Given the description of an element on the screen output the (x, y) to click on. 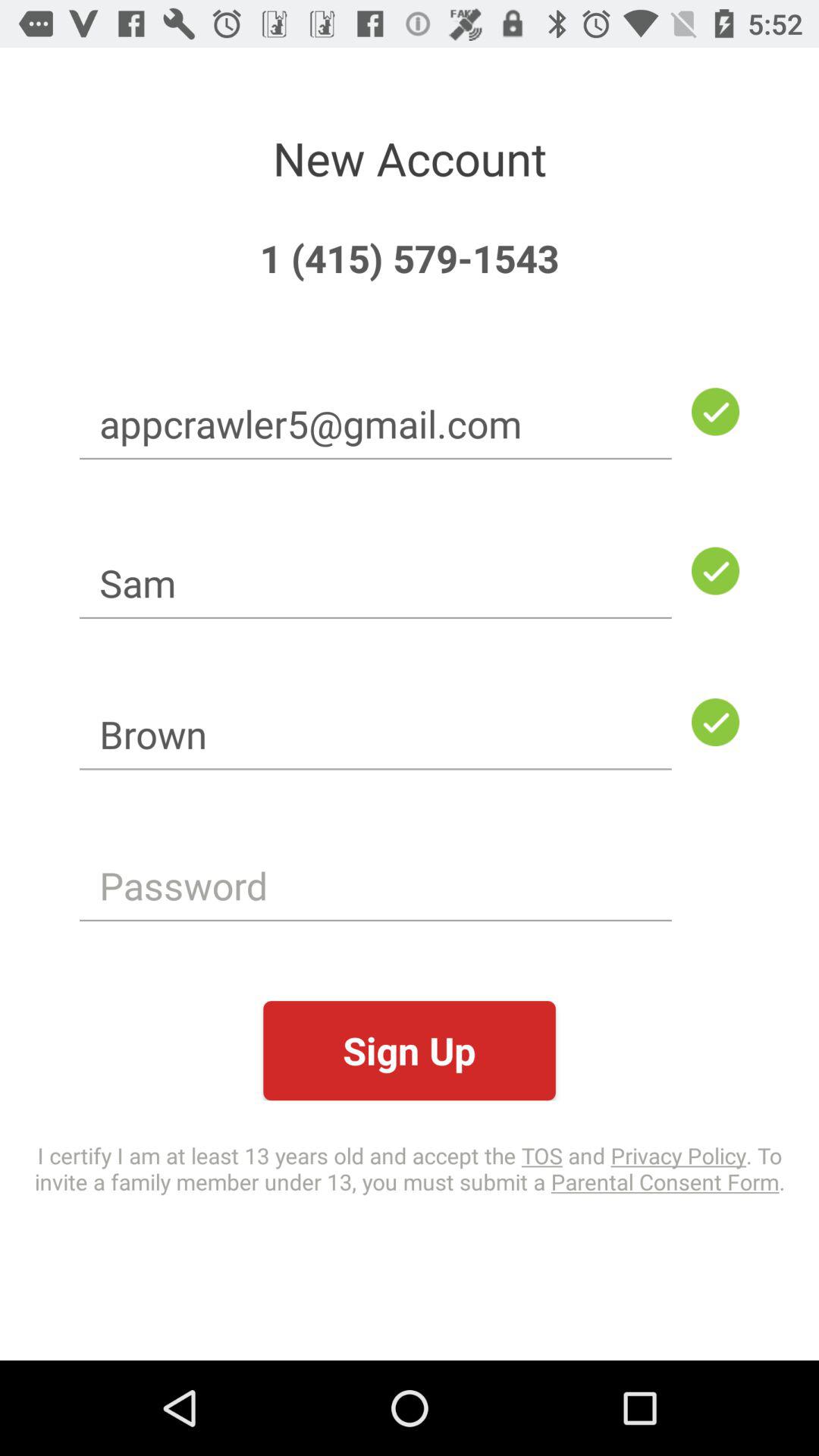
launch the icon below the sam (375, 734)
